Given the description of an element on the screen output the (x, y) to click on. 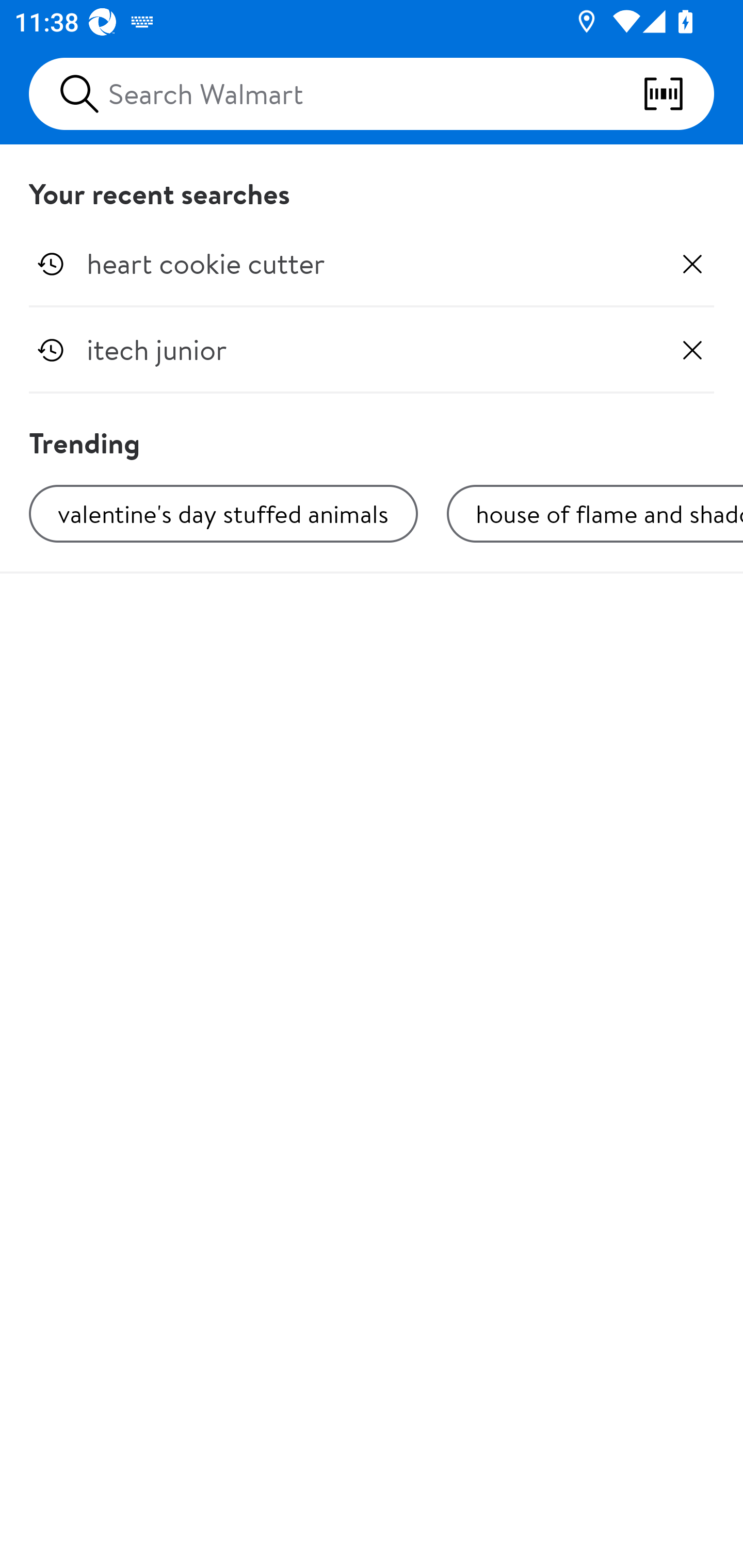
Search Walmart scan barcodes qr codes and more (371, 94)
scan barcodes qr codes and more (677, 94)
Remove recent search for heart cookie cutter (692, 264)
Remove recent search for itech junior (692, 350)
